Given the description of an element on the screen output the (x, y) to click on. 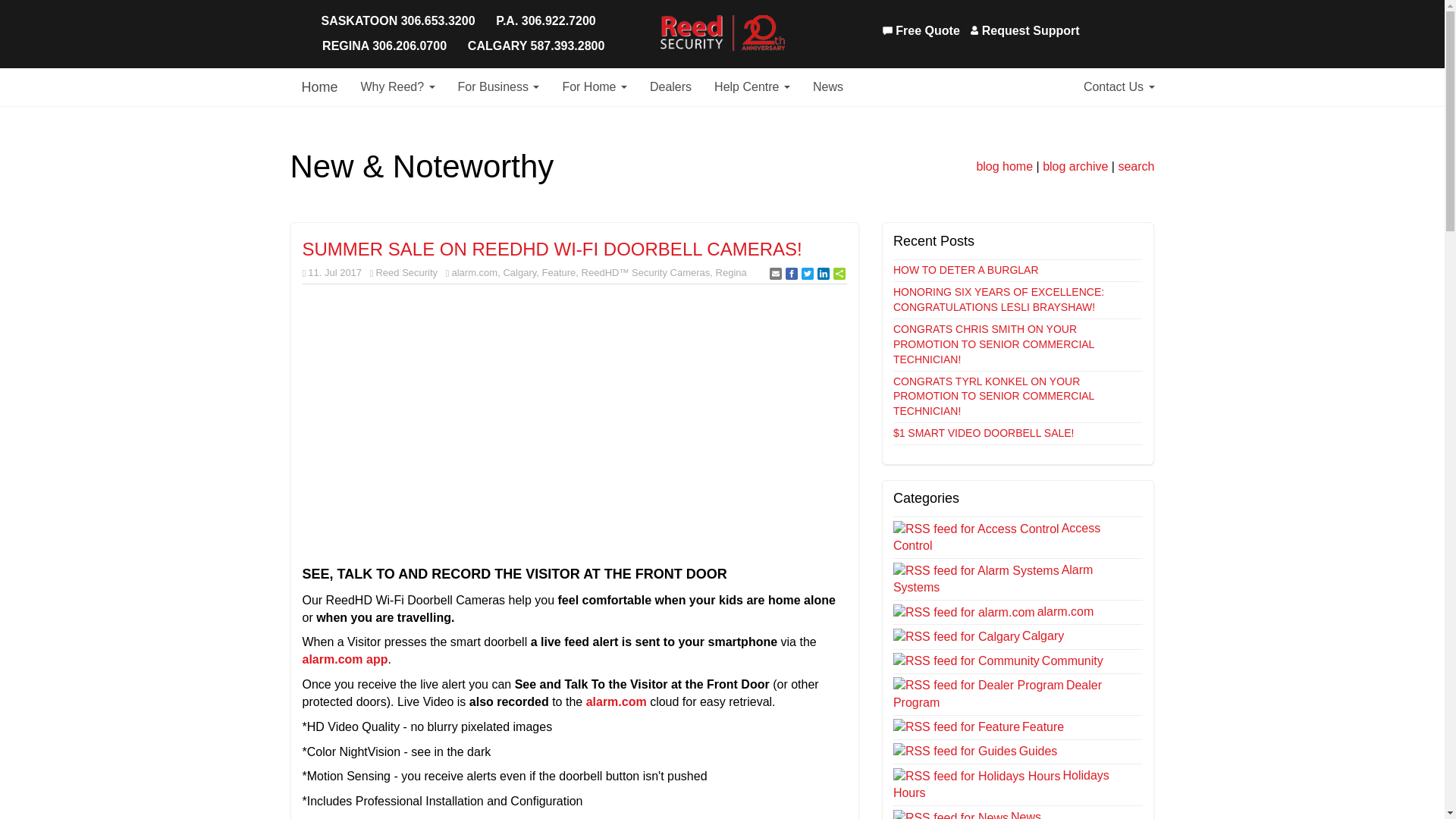
Why Reed? (397, 86)
P.A. 306.922.7200 (545, 21)
Category: Feature (1043, 726)
Reed Security (721, 33)
Category: Alarm Systems (993, 578)
Category: Dealer Program (997, 693)
Help Centre (752, 86)
Request Support (1024, 31)
For Home (594, 86)
Category: Access Control (996, 536)
